Given the description of an element on the screen output the (x, y) to click on. 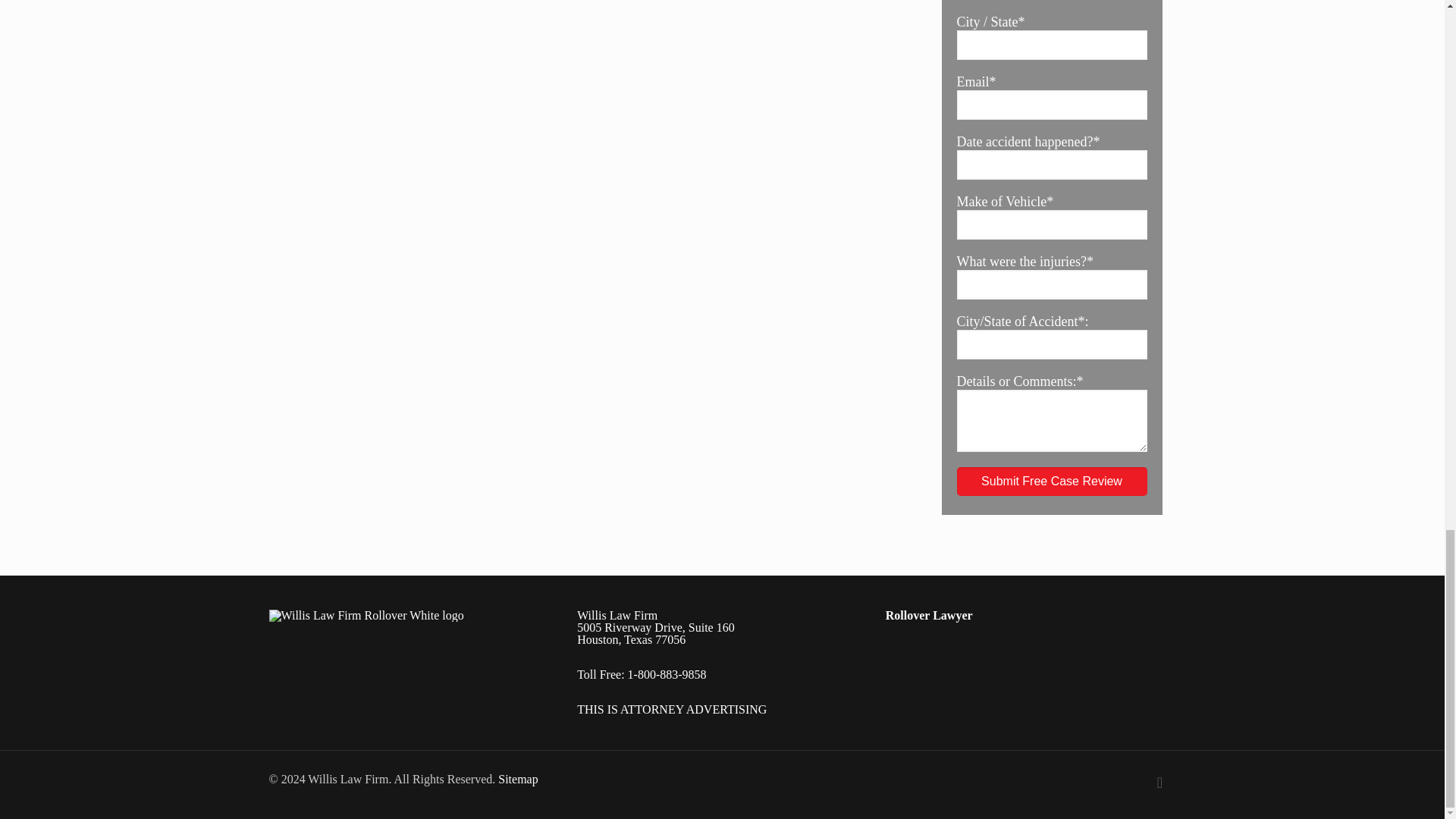
Sitemap (517, 779)
Toll Free: 1-800-883-9858 (641, 674)
Submit Free Case Review (1051, 481)
Submit Free Case Review (1051, 481)
